Given the description of an element on the screen output the (x, y) to click on. 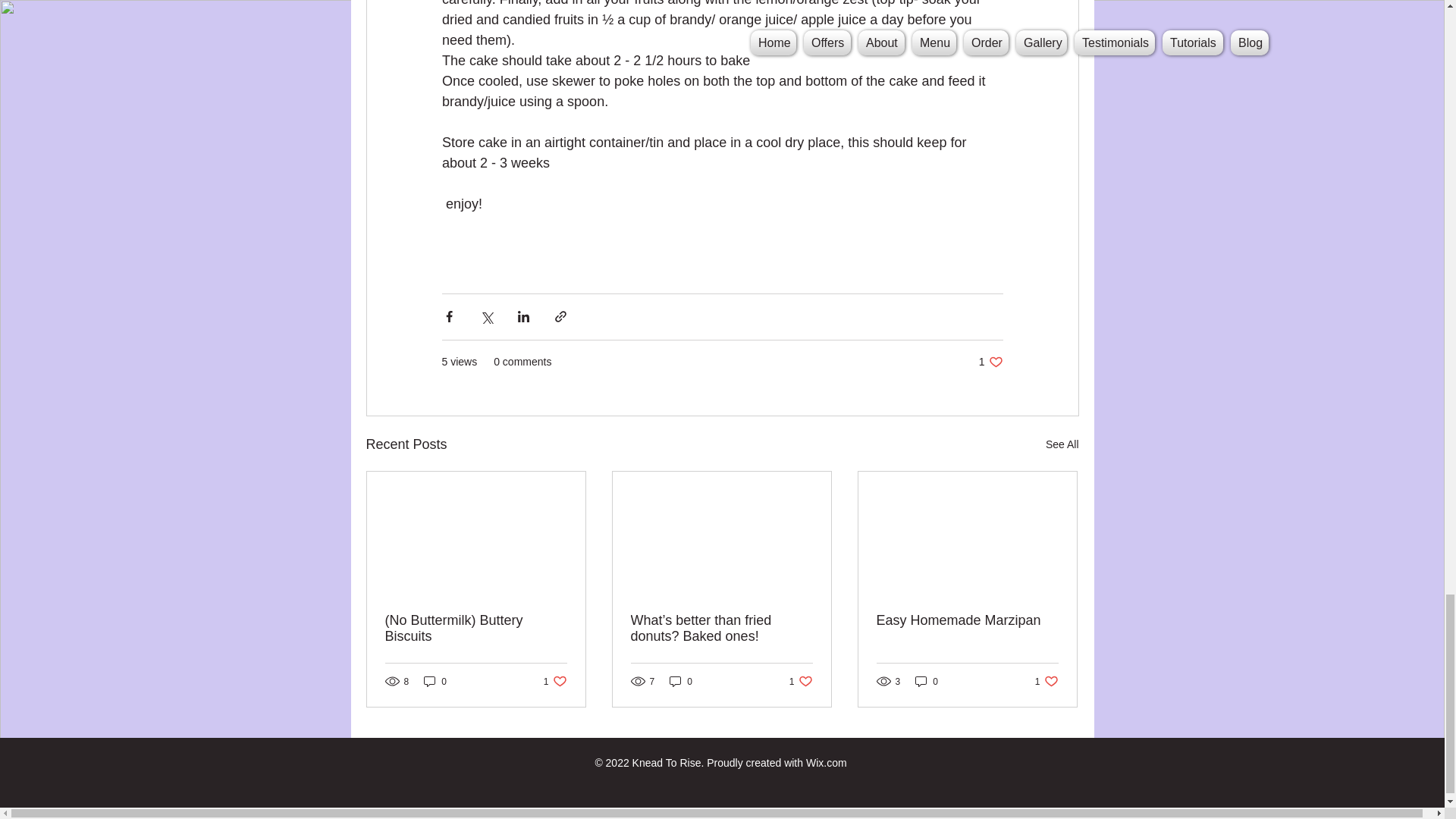
0 (800, 681)
Easy Homemade Marzipan (435, 681)
0 (967, 620)
See All (926, 681)
0 (1061, 444)
Wix.com (555, 681)
